Given the description of an element on the screen output the (x, y) to click on. 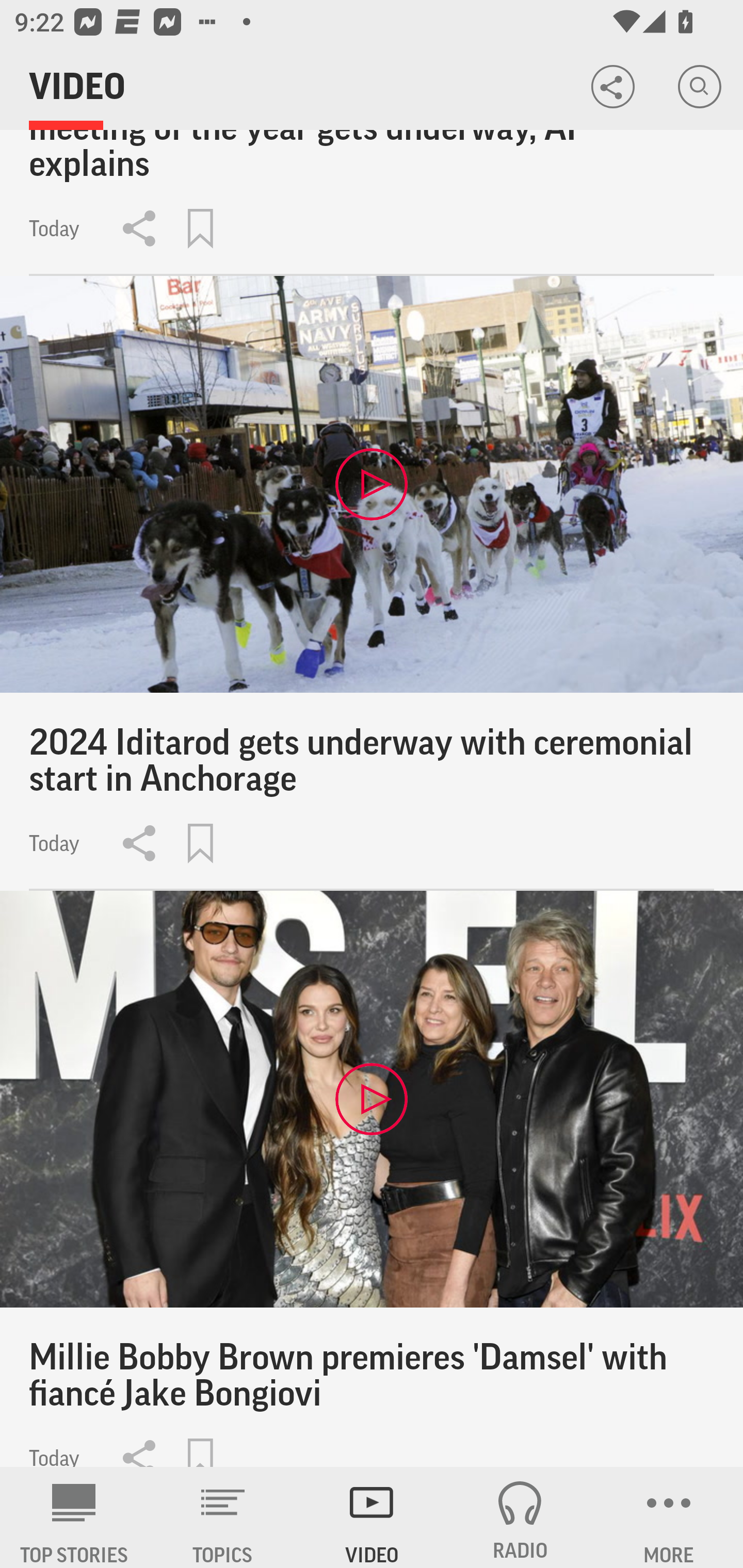
AP News TOP STORIES (74, 1517)
TOPICS (222, 1517)
VIDEO (371, 1517)
RADIO (519, 1517)
MORE (668, 1517)
